Given the description of an element on the screen output the (x, y) to click on. 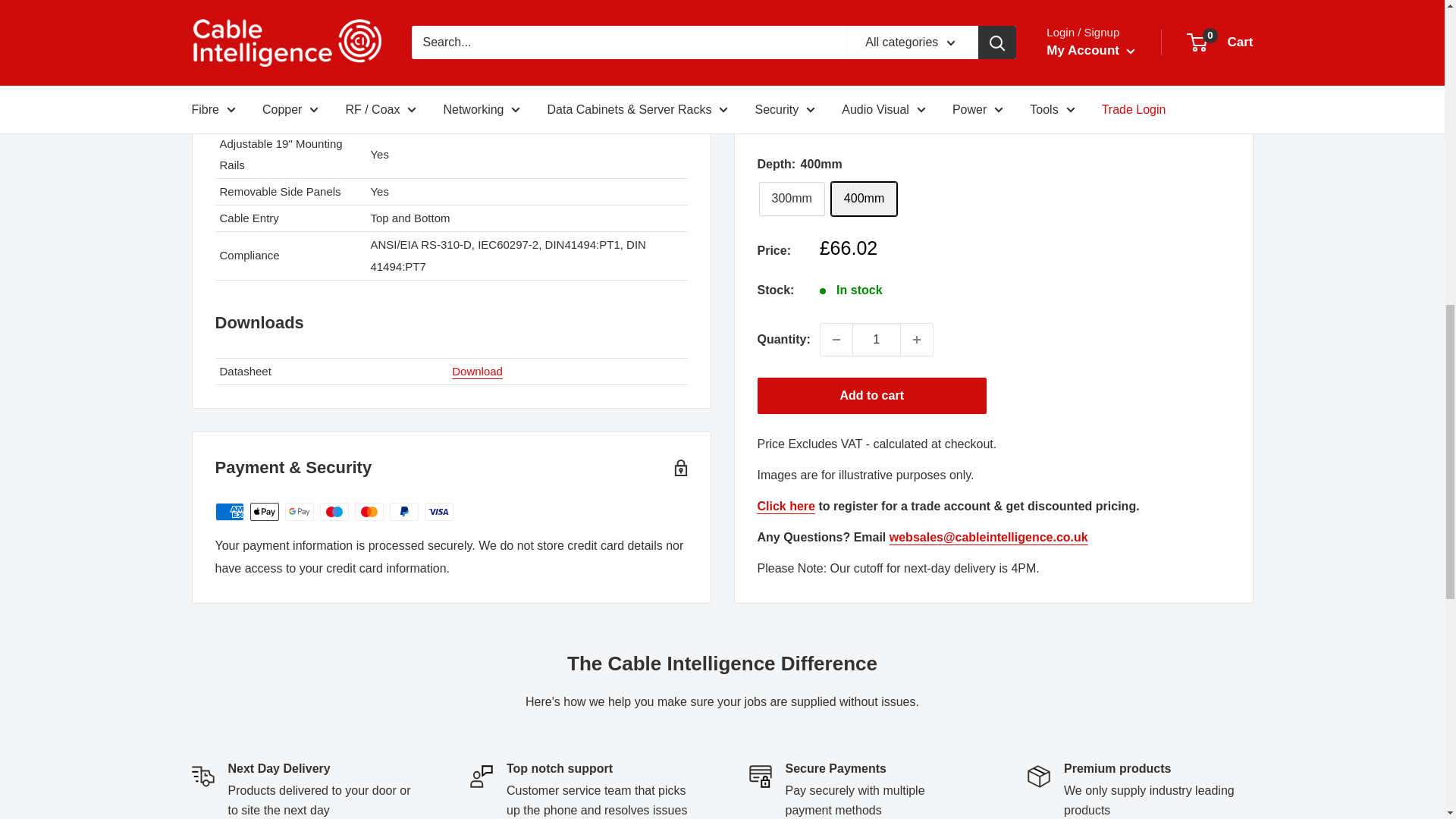
6U Low Profile Wall Cabinet (476, 370)
